Given the description of an element on the screen output the (x, y) to click on. 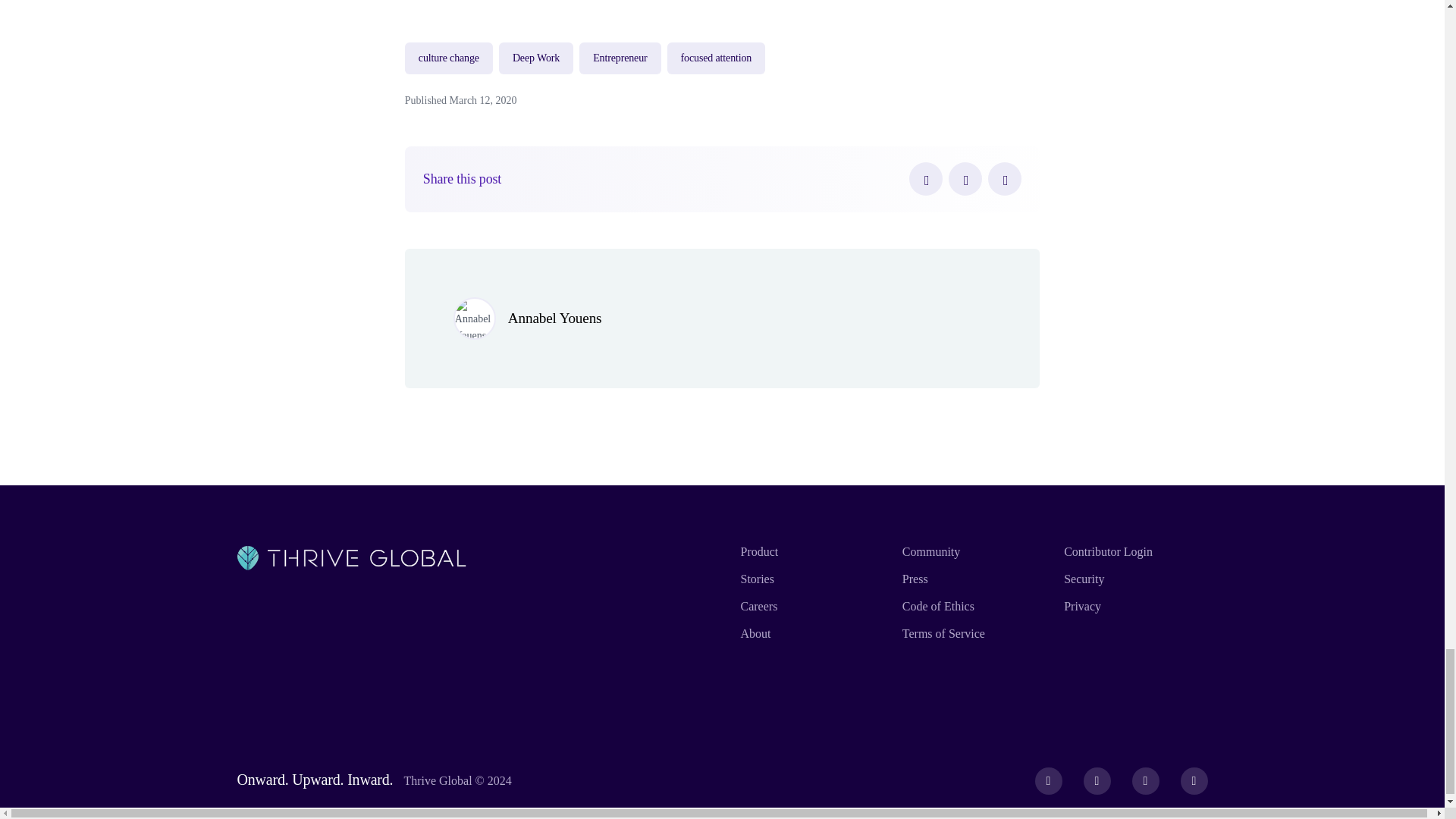
Twitter (965, 178)
Facebook (925, 178)
LinkedIn (1005, 178)
Annabel Youens (555, 317)
